Given the description of an element on the screen output the (x, y) to click on. 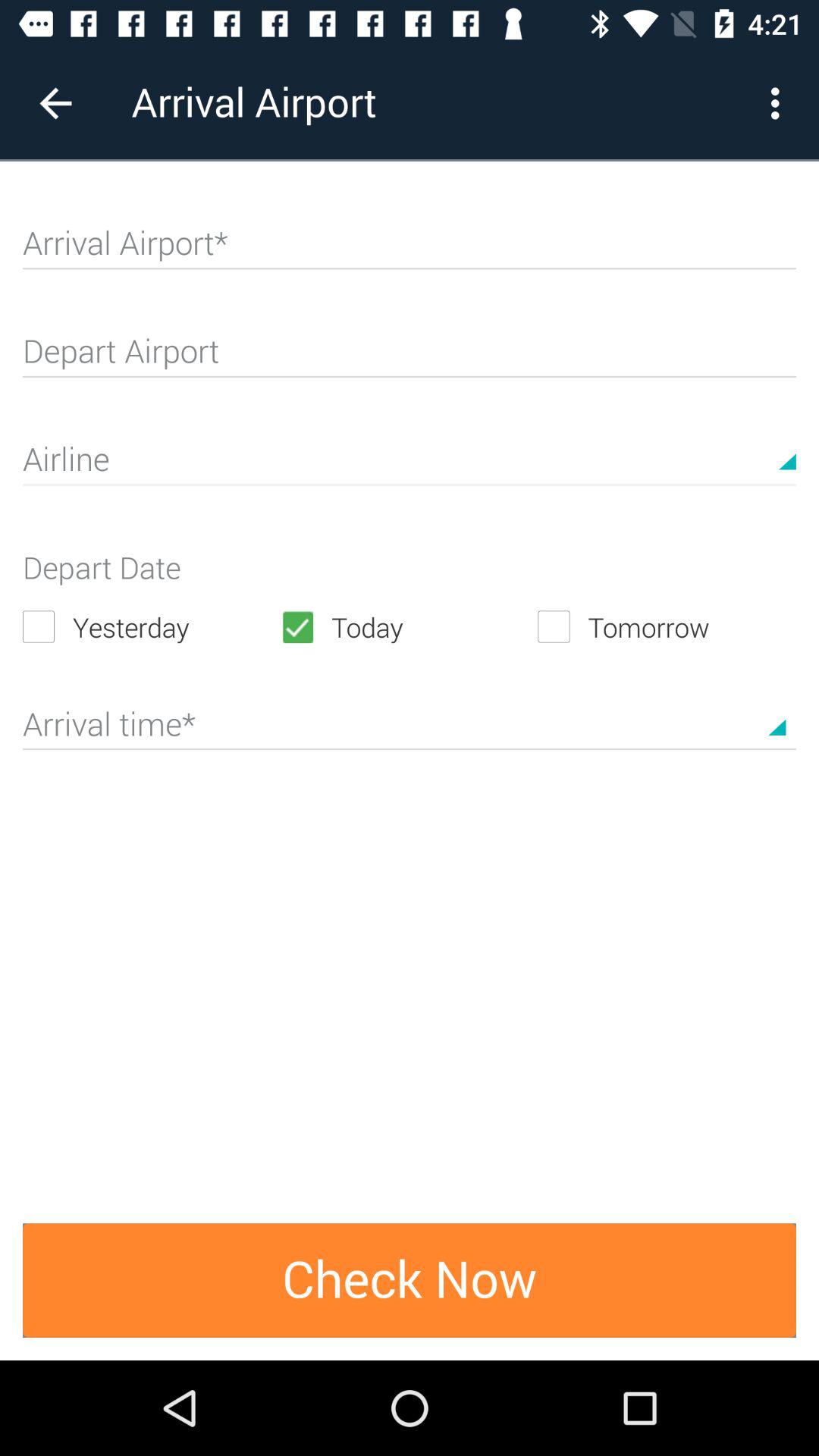
enter departure airport (409, 357)
